Given the description of an element on the screen output the (x, y) to click on. 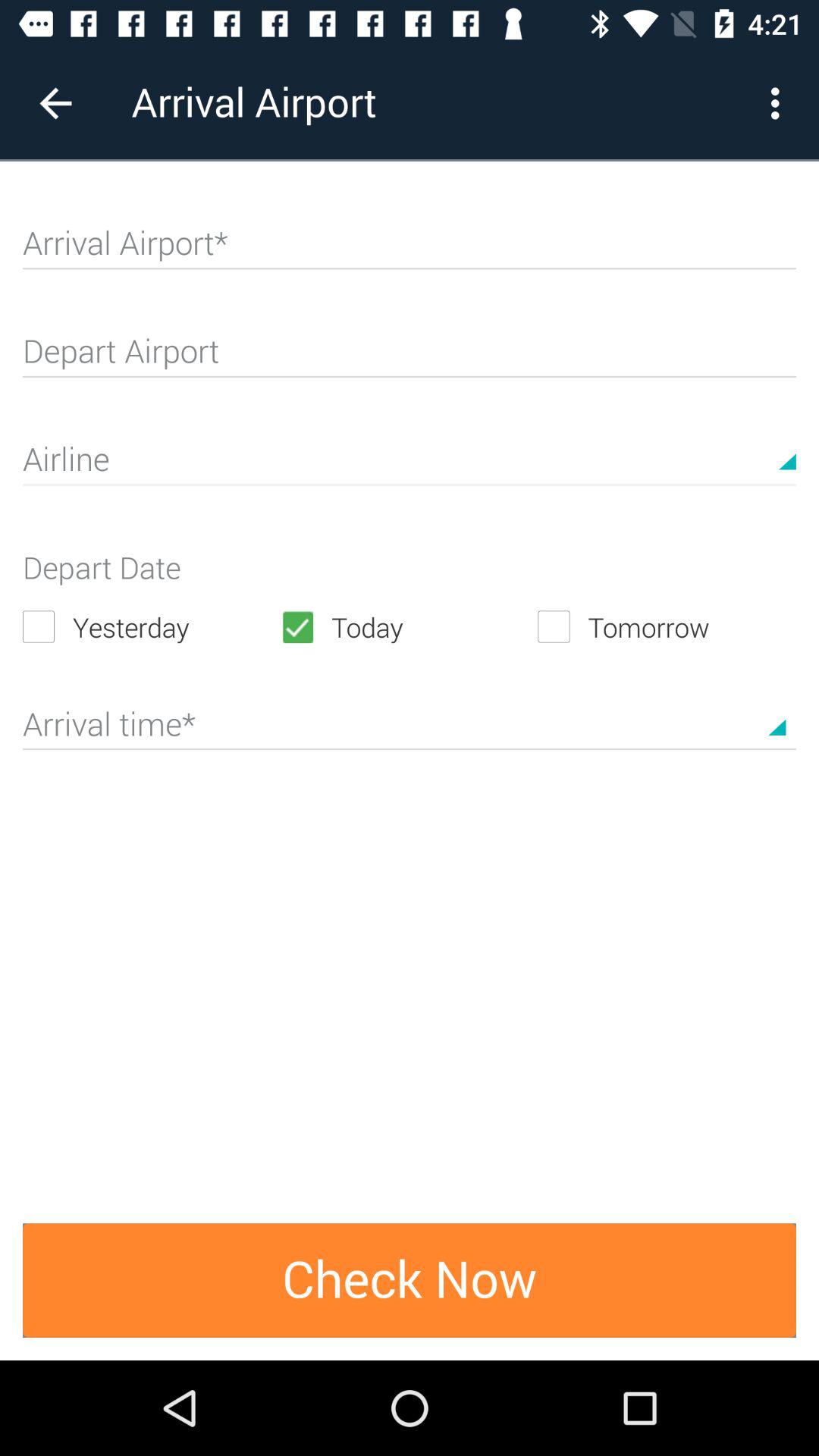
enter departure airport (409, 357)
